Given the description of an element on the screen output the (x, y) to click on. 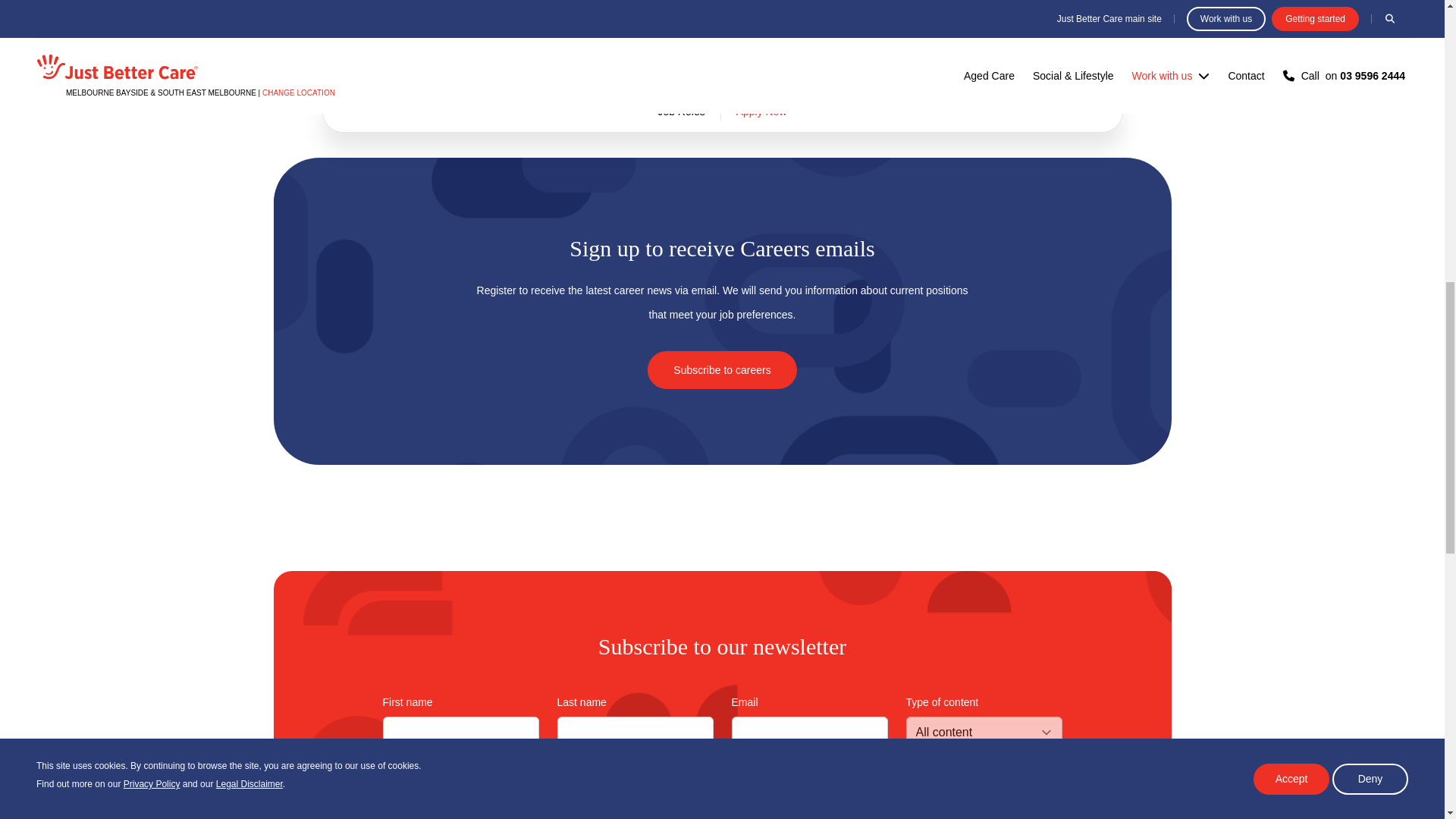
Privacy Policy (627, 778)
Subscribe to careers (721, 370)
